Given the description of an element on the screen output the (x, y) to click on. 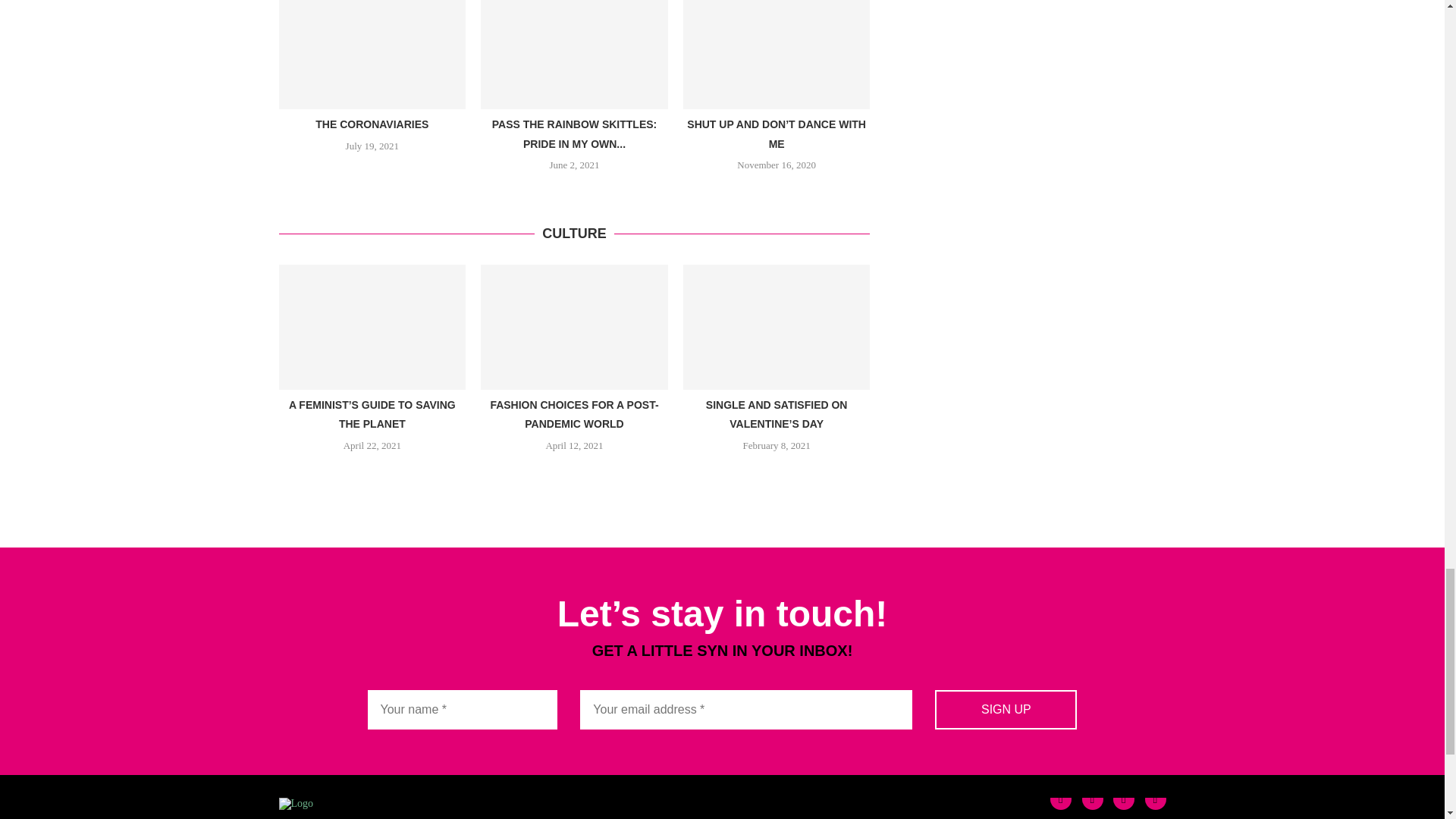
Pass the Rainbow Skittles: Pride In My Own Words (574, 54)
Fashion Choices for a Post-Pandemic World (574, 326)
The Coronaviaries (372, 54)
Homepage (296, 803)
Sign Up (1005, 709)
